Given the description of an element on the screen output the (x, y) to click on. 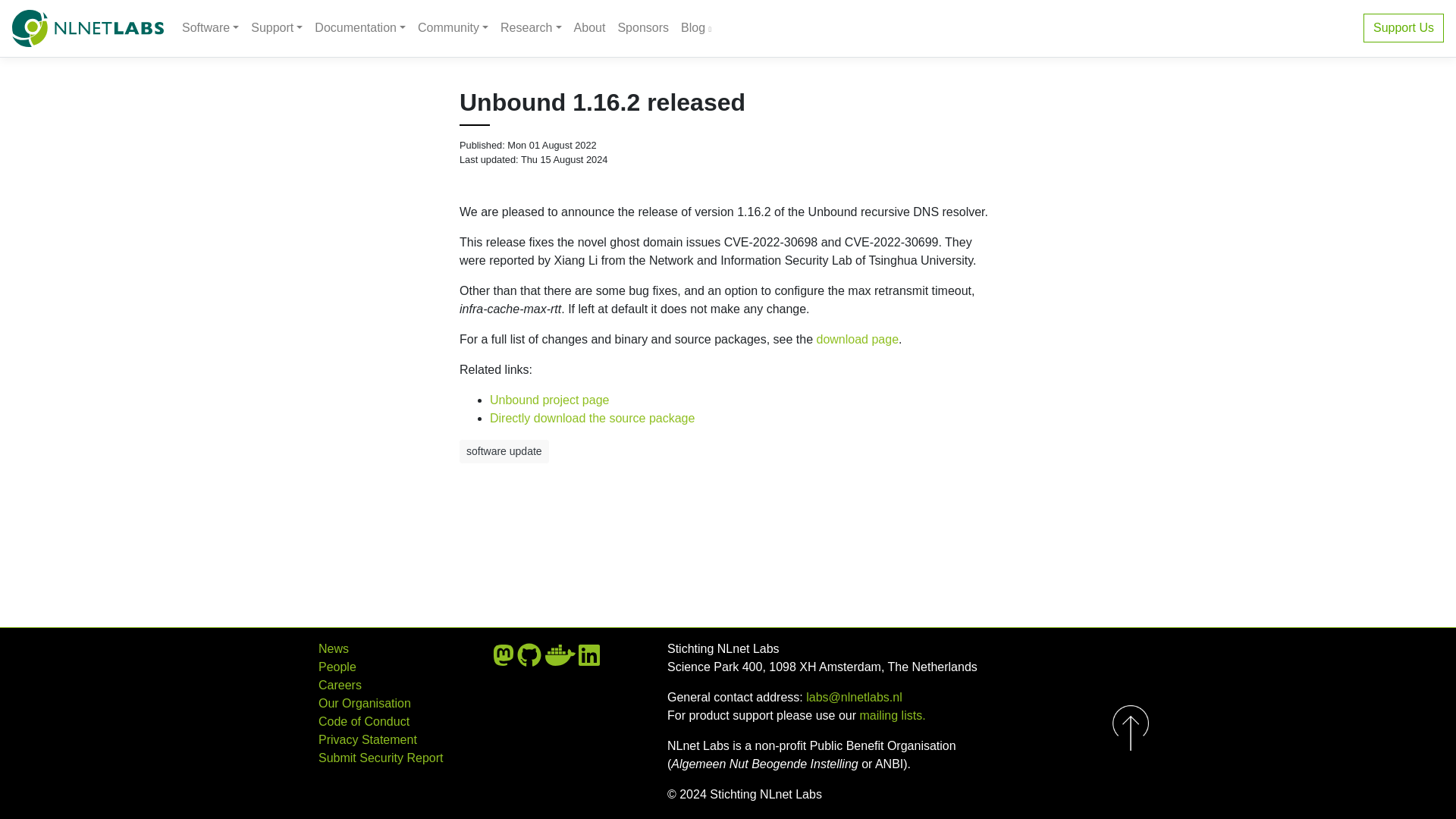
linkedin (588, 659)
Documentation (360, 28)
docker (559, 659)
github (528, 659)
Community (453, 28)
Research (531, 28)
Software (210, 28)
masdoton (503, 659)
NLnet Labs (87, 27)
Support (276, 28)
